Given the description of an element on the screen output the (x, y) to click on. 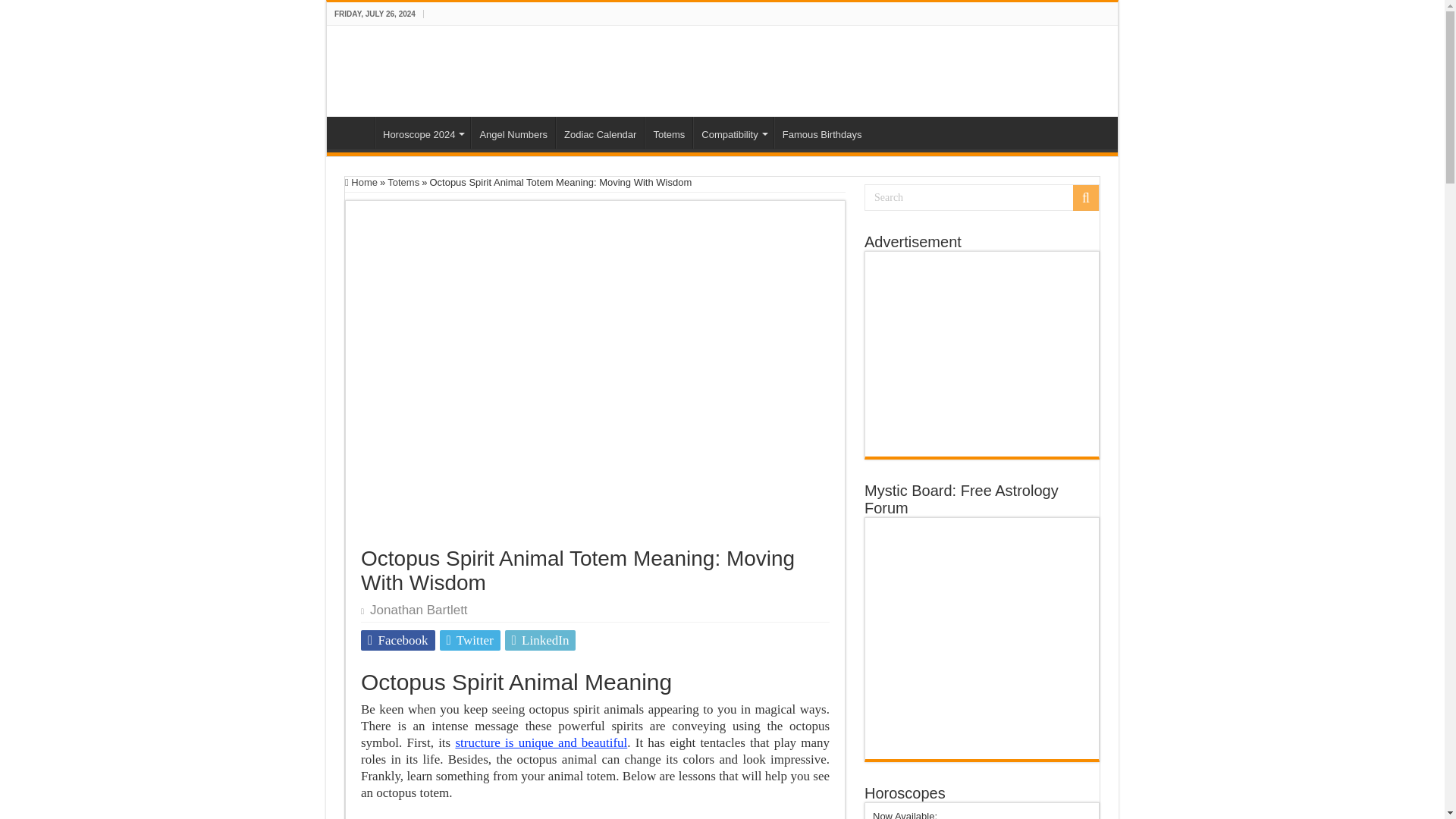
Search (981, 197)
Angel Numbers (512, 132)
Sun Signs (354, 132)
Zodiac Calendar (599, 132)
Horoscope 2024 (422, 132)
Facebook (398, 639)
What Are Animal Totems (669, 132)
Twitter (469, 639)
Zodiac Calendar (599, 132)
LinkedIn (540, 639)
Compatibility (733, 132)
Home (354, 132)
Compatibility (733, 132)
Totems (669, 132)
